Given the description of an element on the screen output the (x, y) to click on. 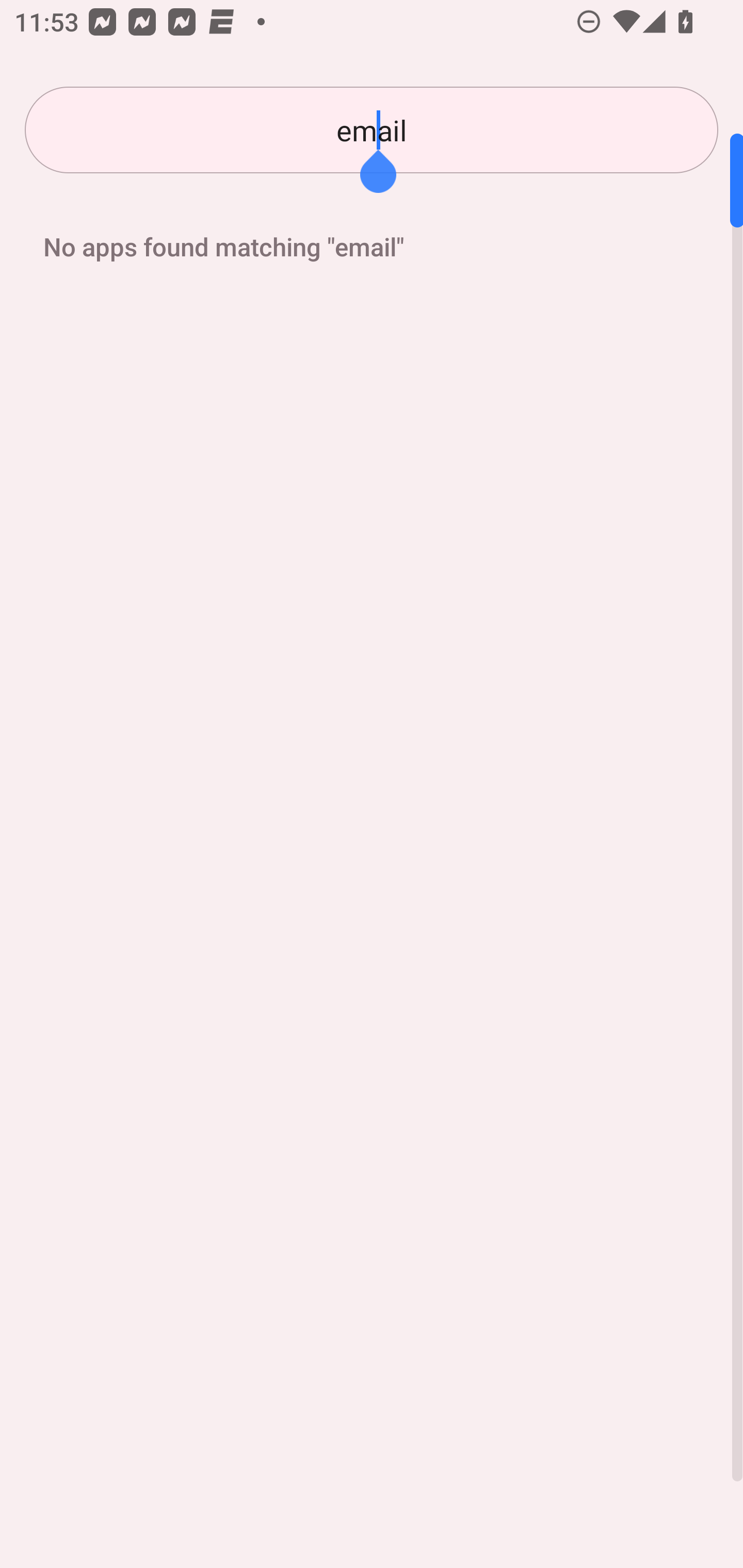
email (371, 130)
